Given the description of an element on the screen output the (x, y) to click on. 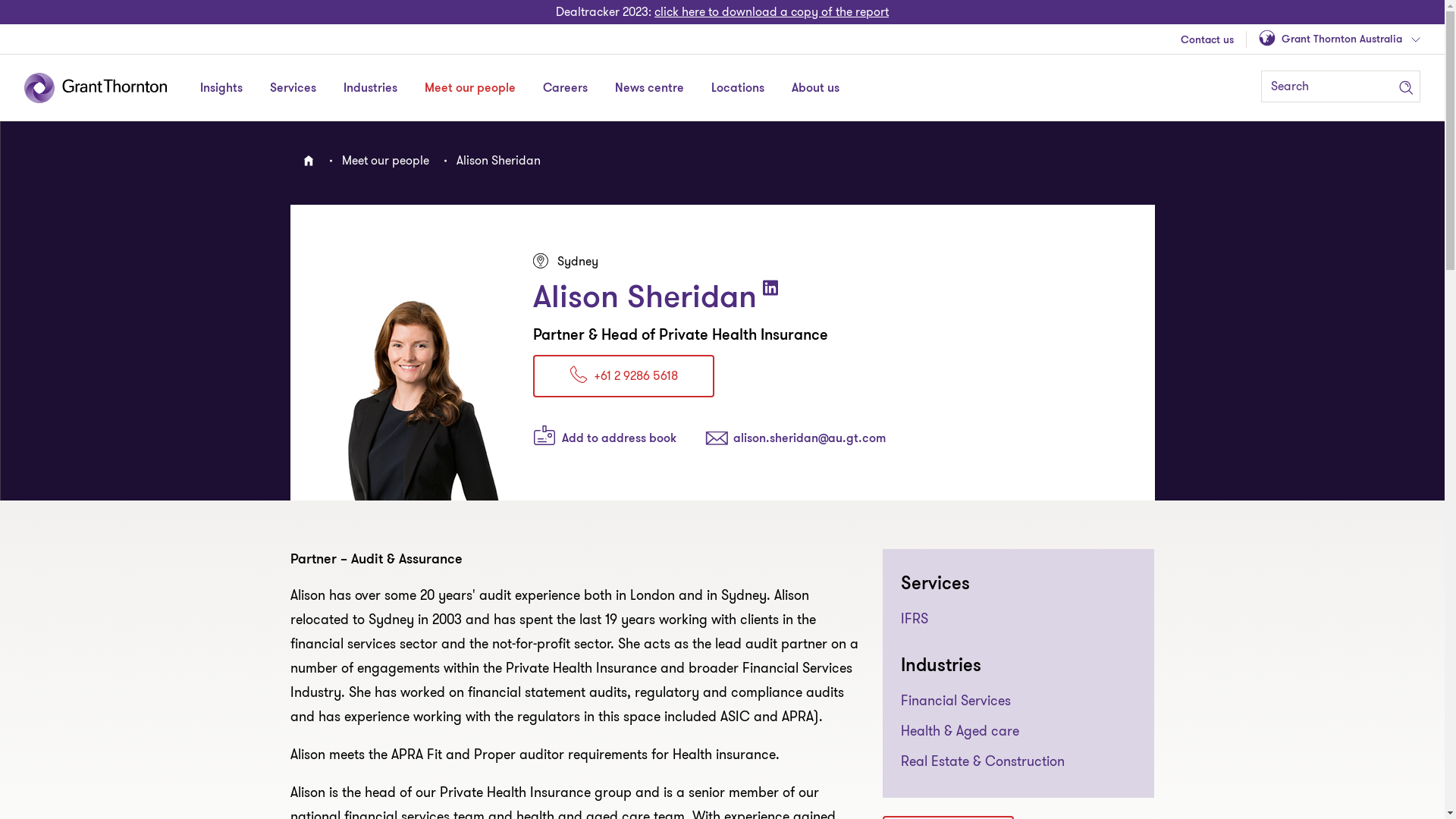
Meet our people Element type: text (469, 87)
Services Element type: text (292, 87)
click here to download a copy of the report Element type: text (771, 11)
Real Estate & Construction Element type: text (982, 763)
Financial Services Element type: text (955, 702)
Health & Aged care Element type: text (959, 732)
Home Element type: hover (307, 160)
About us Element type: text (815, 87)
News centre Element type: text (649, 87)
Alison Sheridan Element type: text (498, 160)
logo Element type: hover (106, 87)
+61 2 9286 5618 Element type: text (622, 375)
Grant Thornton Australia Element type: text (1339, 38)
Meet our people Element type: text (384, 160)
Insights Element type: text (221, 87)
External link - open a new window Element type: hover (770, 287)
Industries Element type: text (370, 87)
Careers Element type: text (564, 87)
Locations Element type: text (737, 87)
IFRS Element type: text (914, 620)
Add to address book Element type: text (603, 437)
Contact us Element type: text (1206, 40)
